Given the description of an element on the screen output the (x, y) to click on. 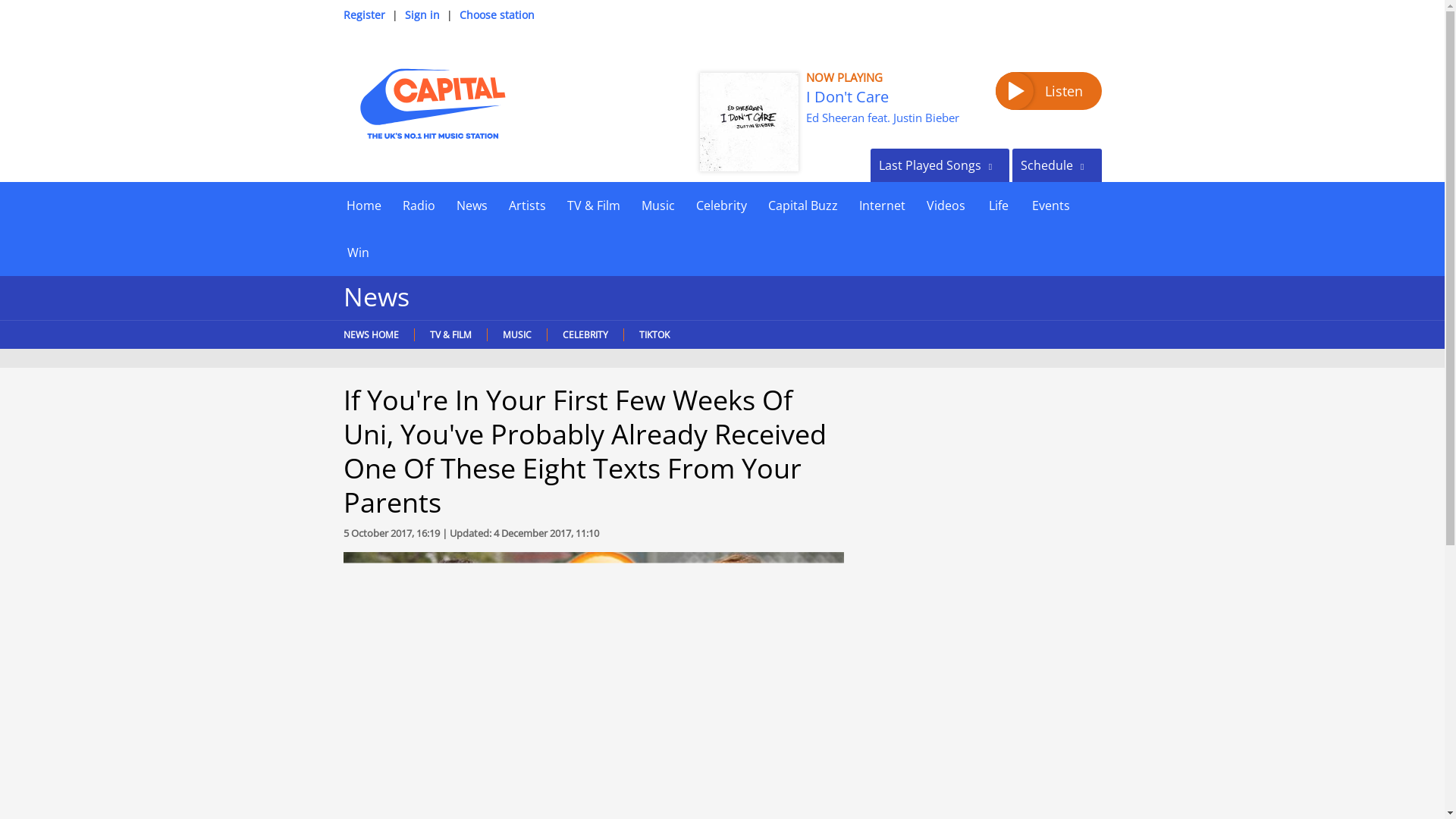
Capital Buzz (802, 205)
Win (357, 252)
Home (362, 205)
Events (1050, 205)
MUSIC (516, 334)
Register (363, 14)
Choose station (497, 14)
CELEBRITY (584, 334)
Schedule (1055, 164)
NEWS HOME (373, 334)
